Given the description of an element on the screen output the (x, y) to click on. 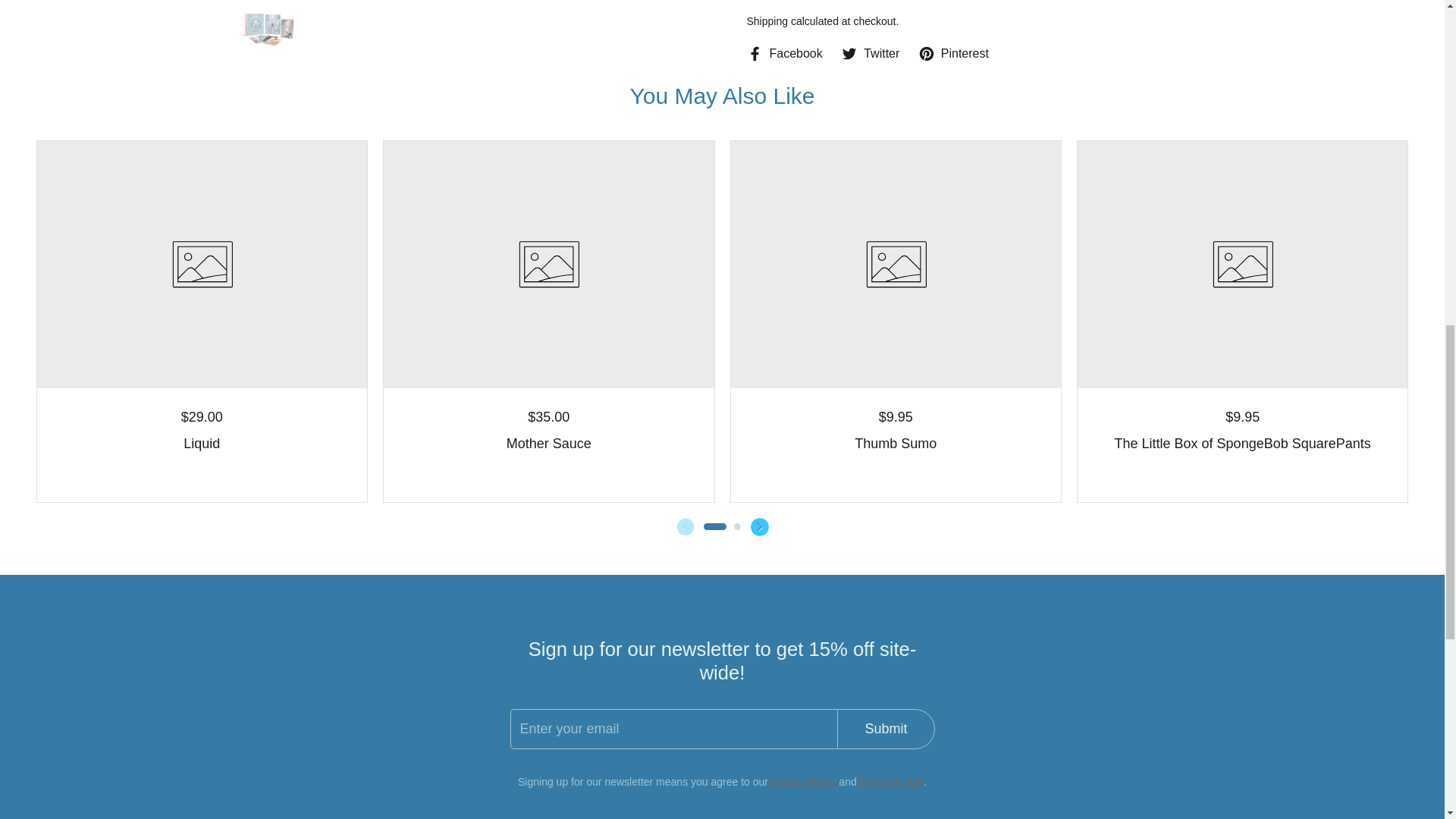
Mother Sauce (548, 440)
The Little Box of SpongeBob SquarePants (1243, 440)
Share on facebook (783, 54)
Share on twitter (870, 54)
Share on pinterest (953, 54)
Liquid (201, 440)
Thumb Sumo (895, 440)
